Given the description of an element on the screen output the (x, y) to click on. 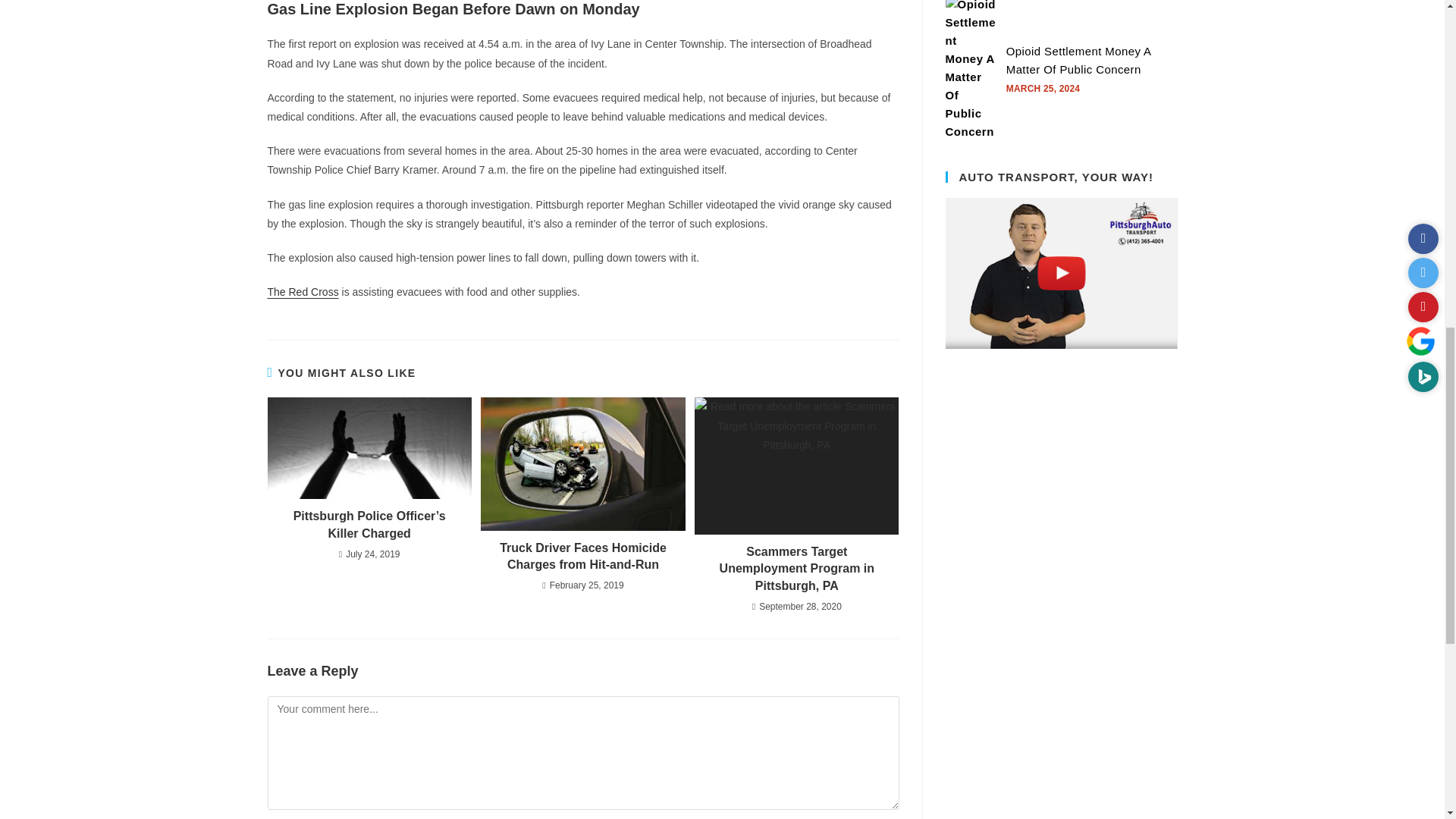
Scammers Target Unemployment Program in Pittsburgh, PA (796, 568)
Truck Driver Faces Homicide Charges from Hit-and-Run (582, 556)
The Red Cross (301, 291)
